Given the description of an element on the screen output the (x, y) to click on. 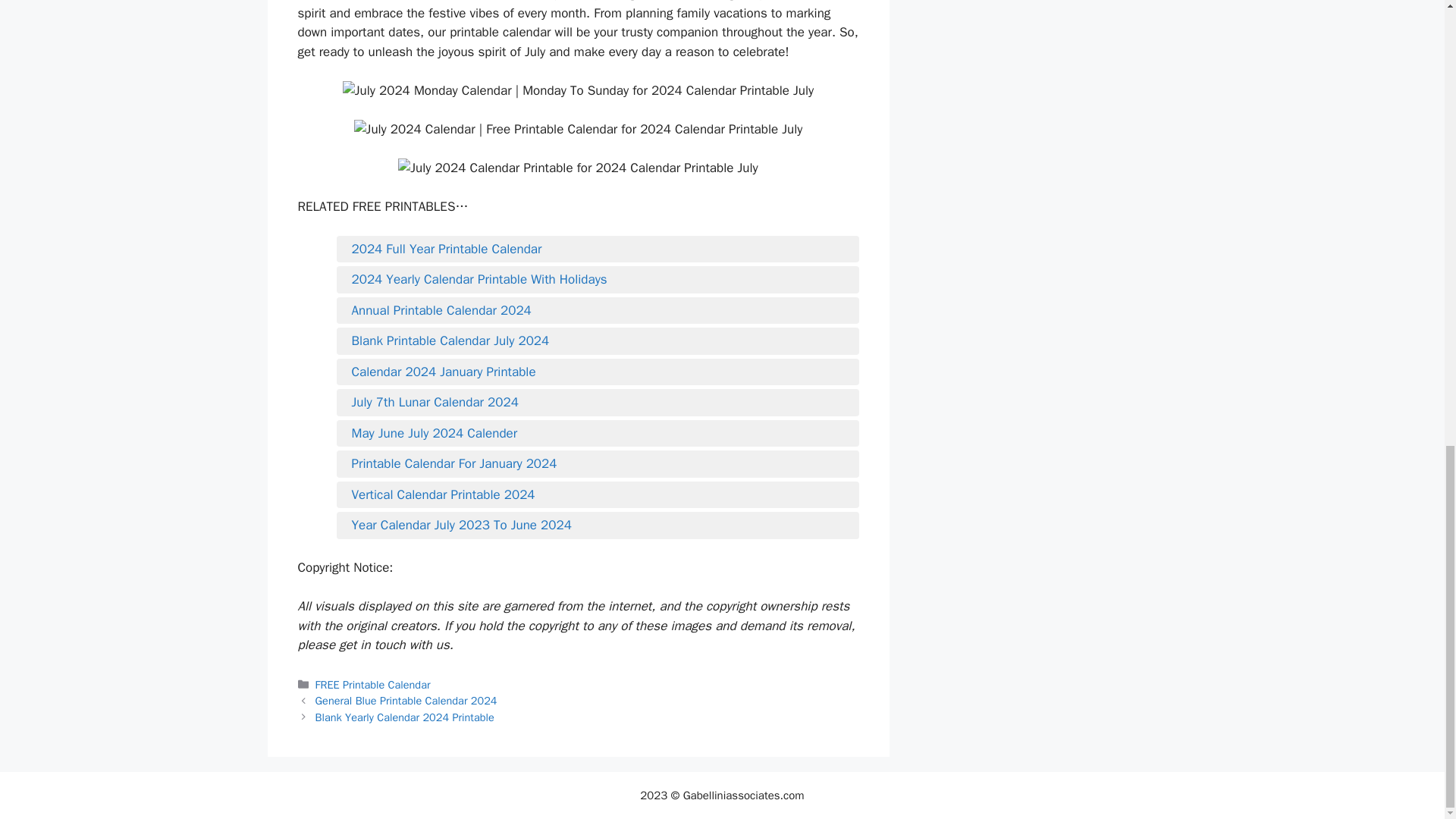
May June July 2024 Calender (597, 433)
Blank Printable Calendar July 2024 (597, 341)
Printable Calendar For January 2024 (597, 463)
Calendar 2024 January Printable (597, 372)
Blank Yearly Calendar 2024 Printable (405, 716)
Annual Printable Calendar 2024 (597, 310)
2024 Yearly Calendar Printable With Holidays (597, 279)
Vertical Calendar Printable 2024 (597, 495)
General Blue Printable Calendar 2024 (406, 700)
Year Calendar July 2023 To June 2024 (597, 525)
July 7th Lunar Calendar 2024 (597, 402)
2024 Full Year Printable Calendar (597, 249)
FREE Printable Calendar (372, 684)
